Given the description of an element on the screen output the (x, y) to click on. 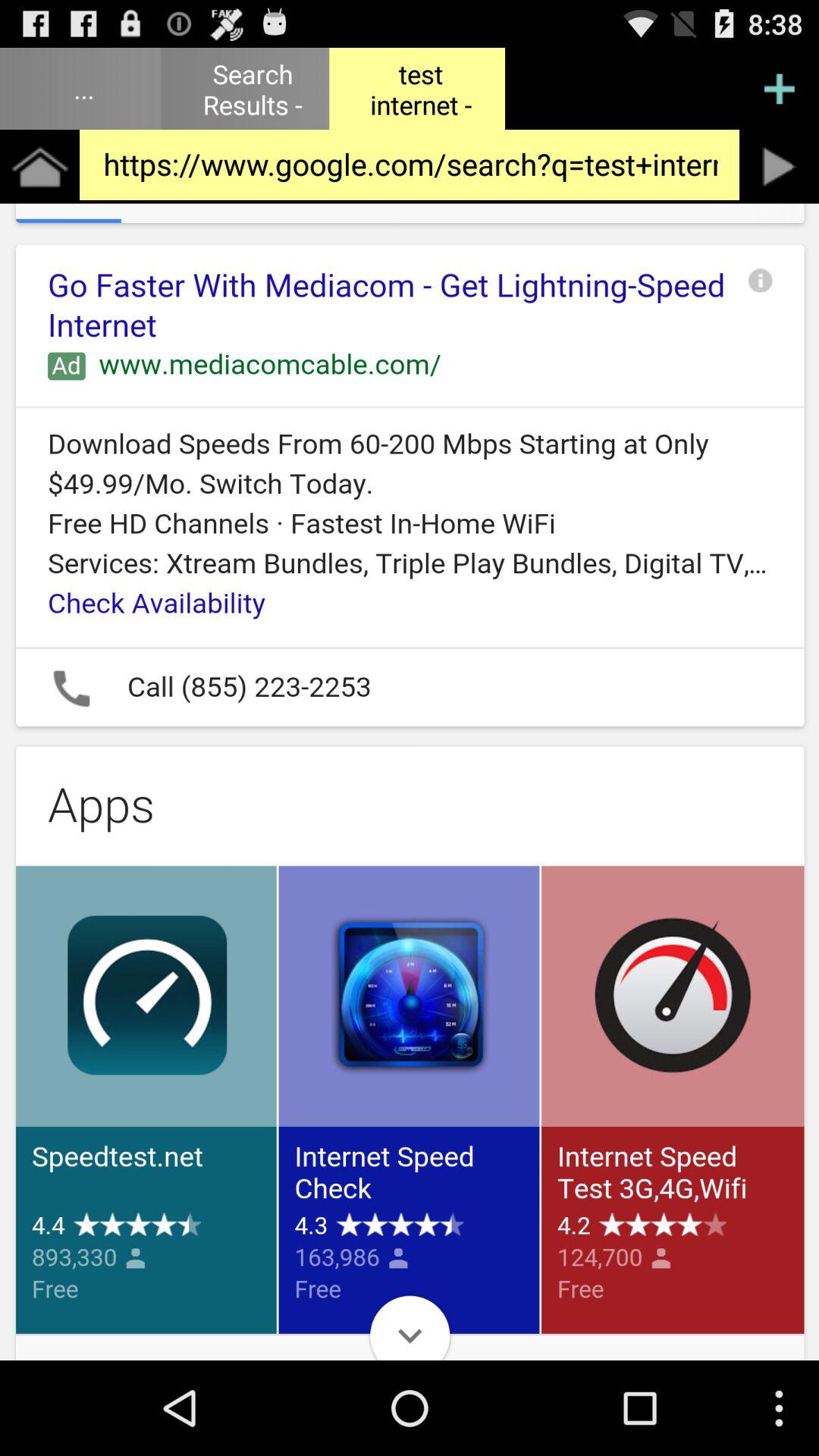
go forward (779, 166)
